Given the description of an element on the screen output the (x, y) to click on. 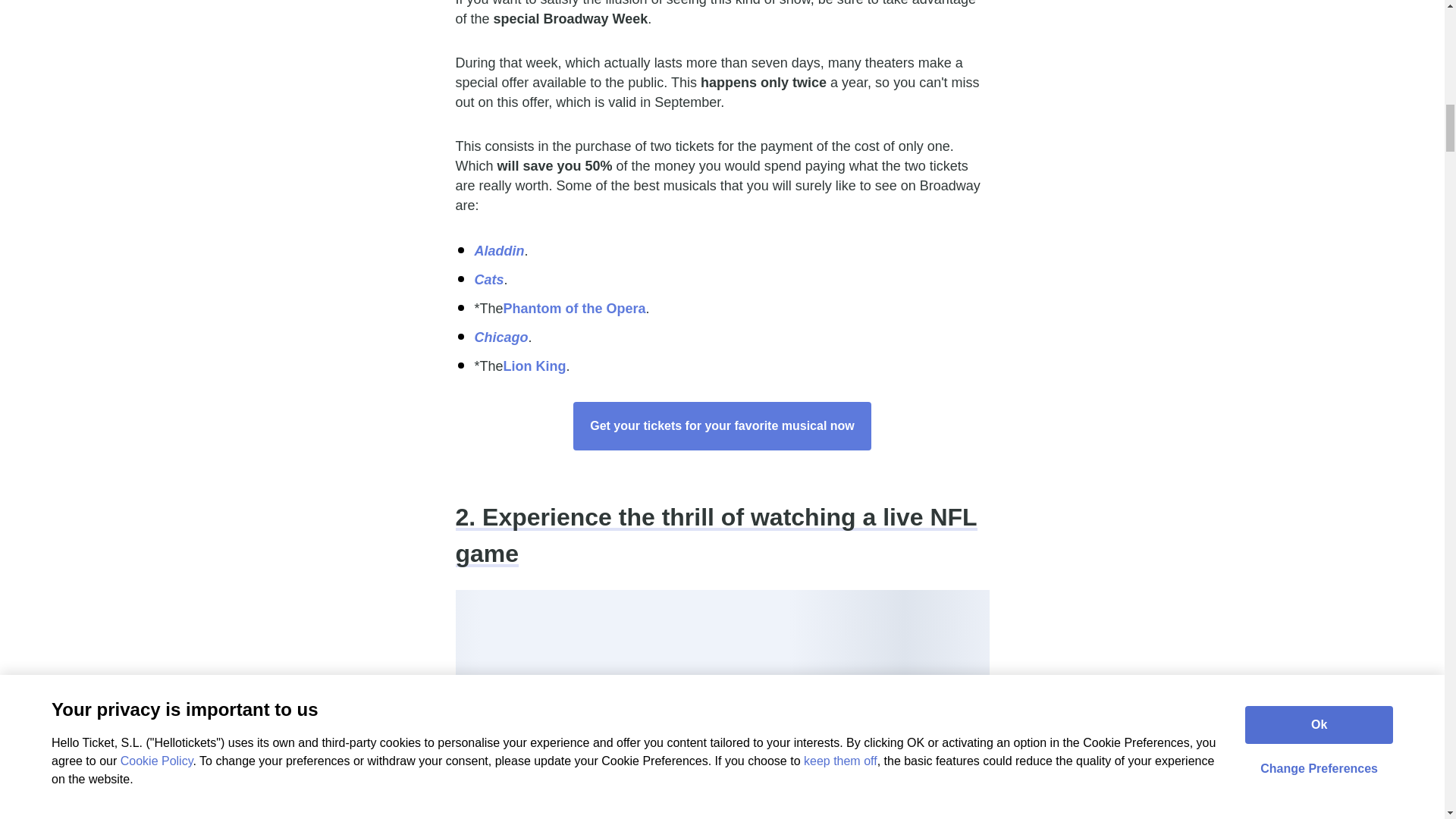
Lion King (534, 365)
Chicago (501, 337)
Aladdin (499, 250)
Phantom of the Opera (574, 308)
Get your tickets for your favorite musical now (721, 426)
Cats (488, 279)
